Given the description of an element on the screen output the (x, y) to click on. 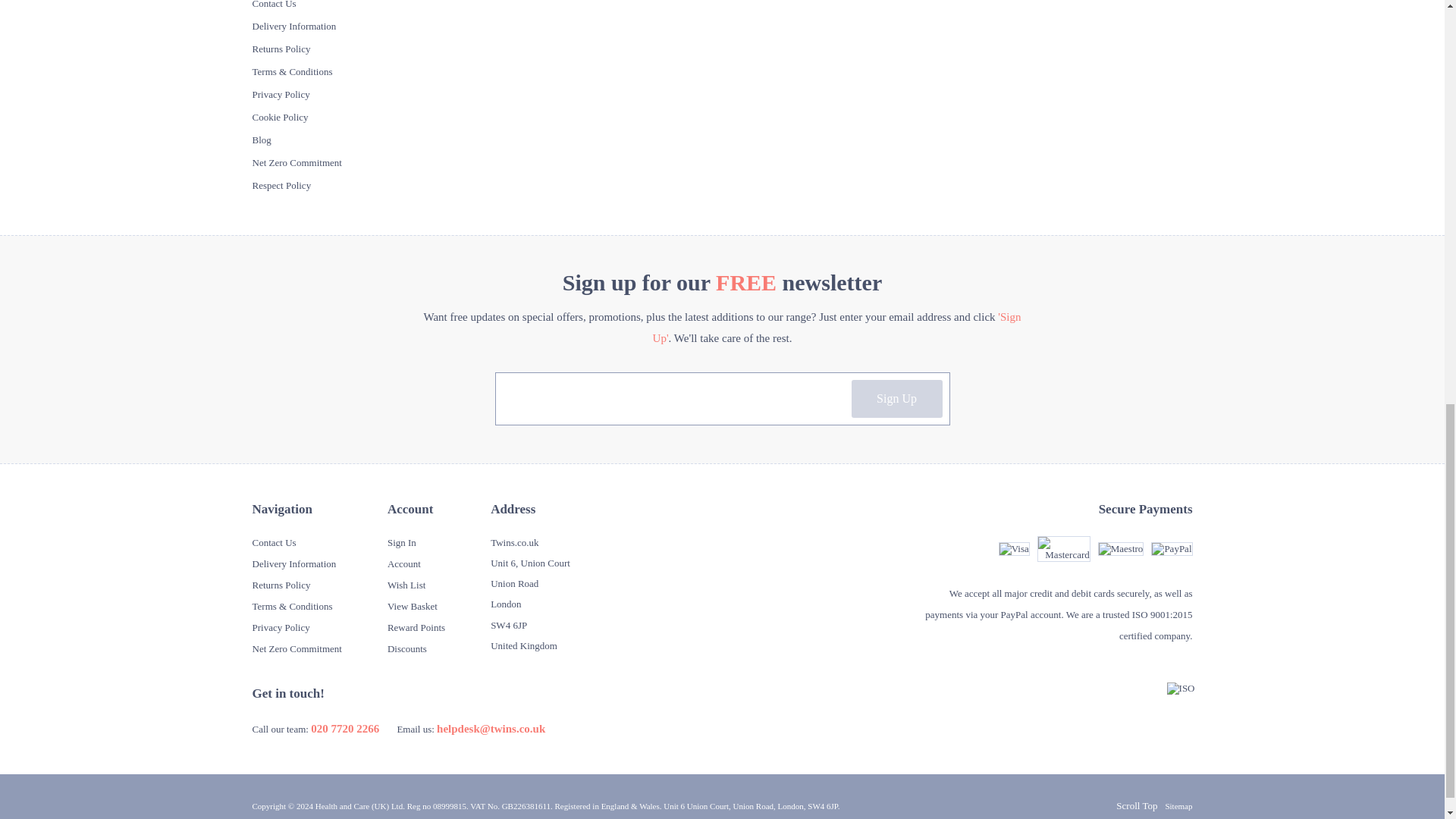
Contact Us (273, 4)
Blog (260, 139)
Returns Policy (280, 48)
Net Zero Commitment (295, 162)
Delivery Information (293, 25)
Privacy Policy (279, 93)
Respect Policy (281, 184)
Cookie Policy (279, 116)
